Given the description of an element on the screen output the (x, y) to click on. 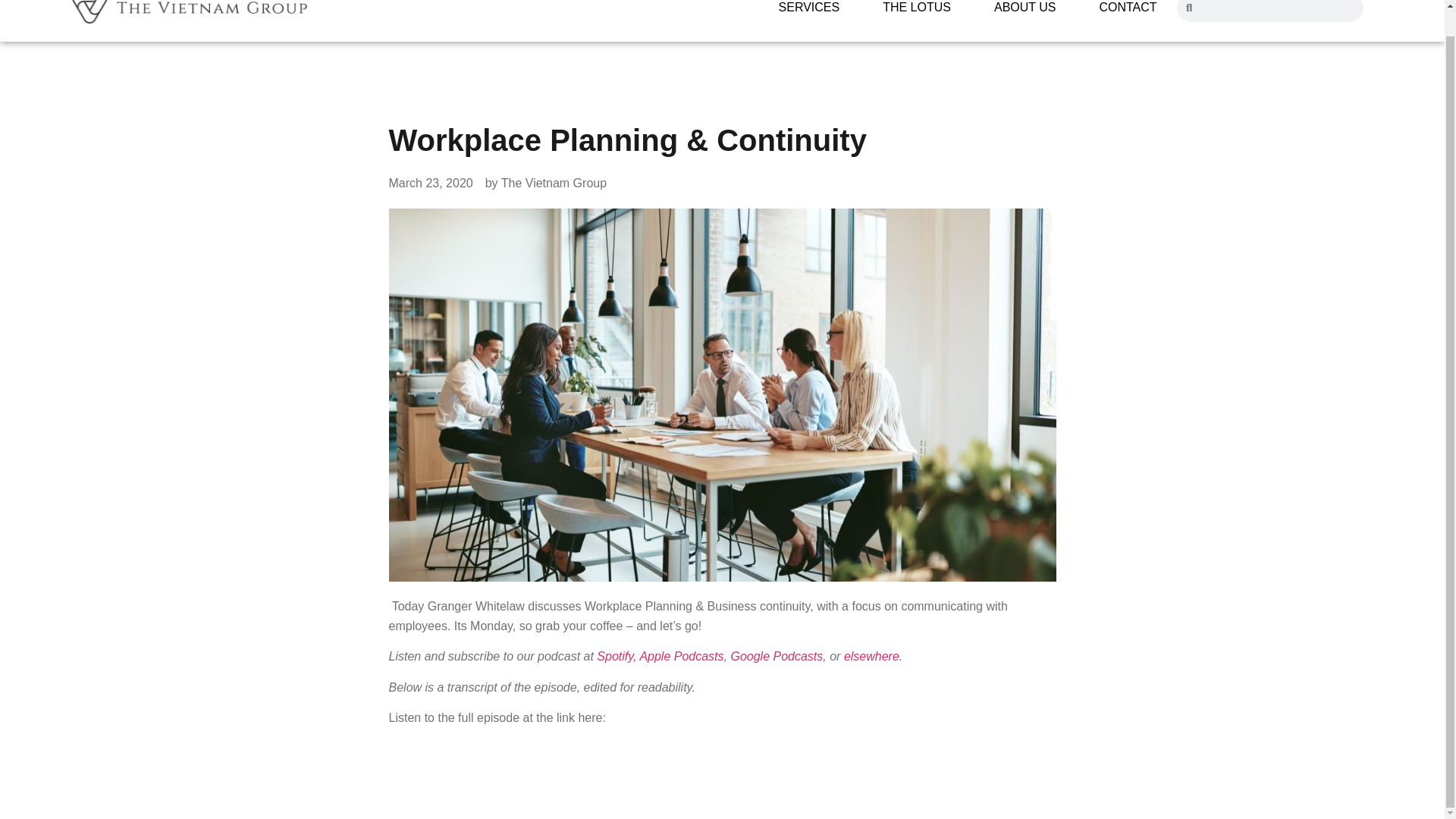
THE LOTUS (917, 10)
Spotify, (616, 656)
Apple Podcasts (681, 656)
Google Podcasts (776, 656)
elsewhere (871, 656)
SERVICES (809, 10)
CONTACT (1127, 10)
ABOUT US (1024, 10)
